Given the description of an element on the screen output the (x, y) to click on. 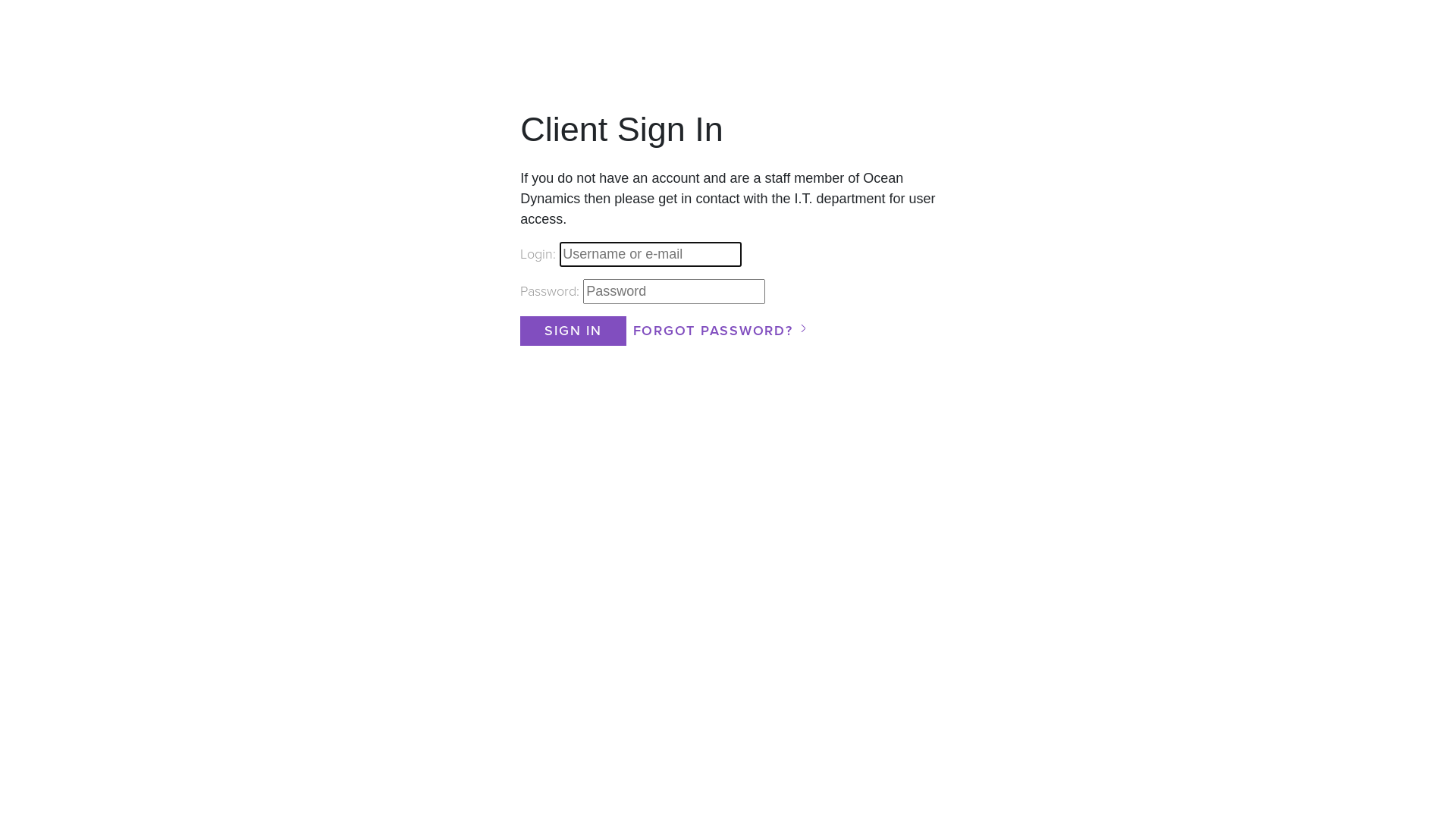
FORGOT PASSWORD? Element type: text (713, 330)
SIGN IN Element type: text (572, 330)
